Given the description of an element on the screen output the (x, y) to click on. 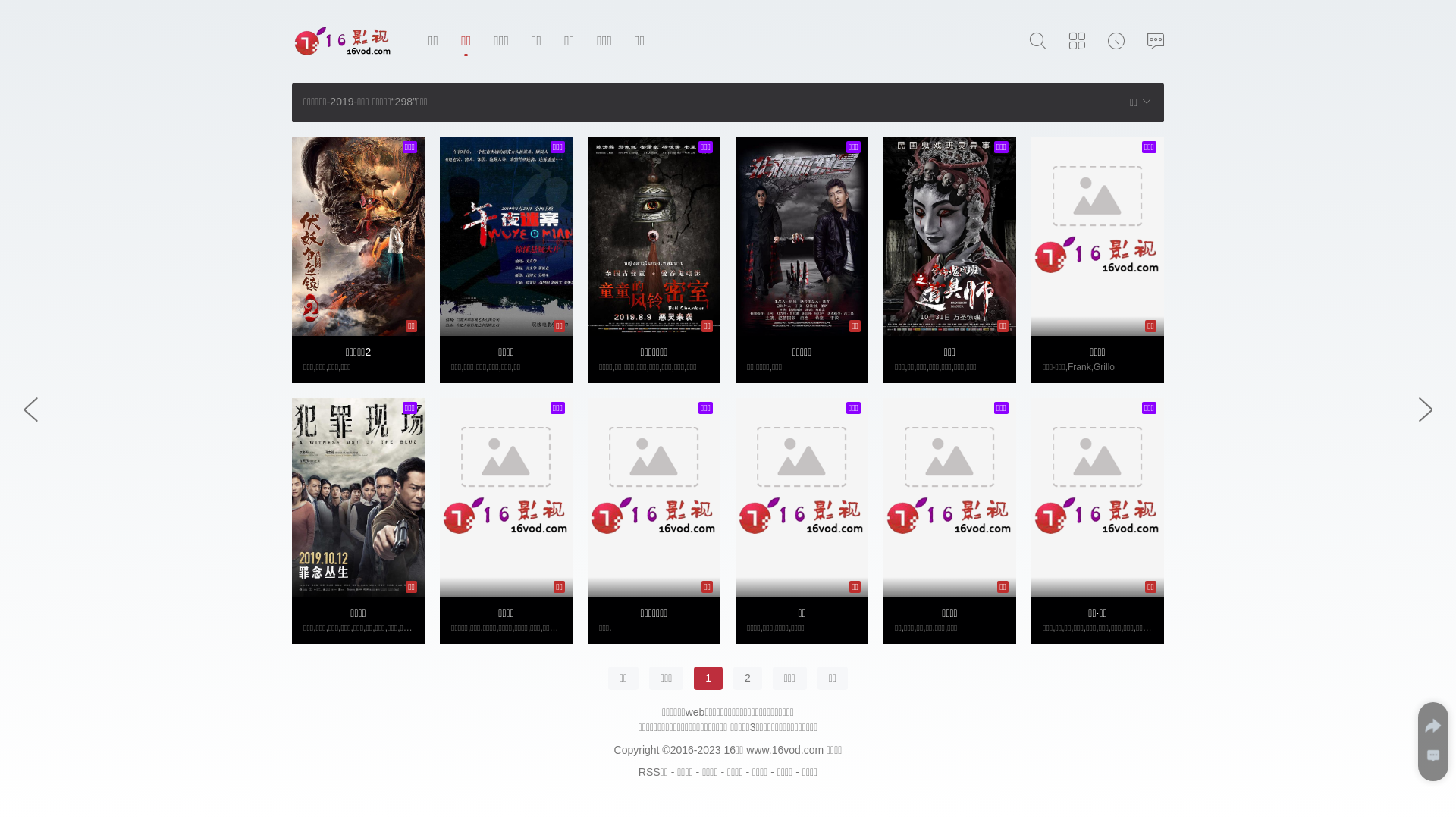
1 Element type: text (707, 678)
2 Element type: text (747, 678)
